Given the description of an element on the screen output the (x, y) to click on. 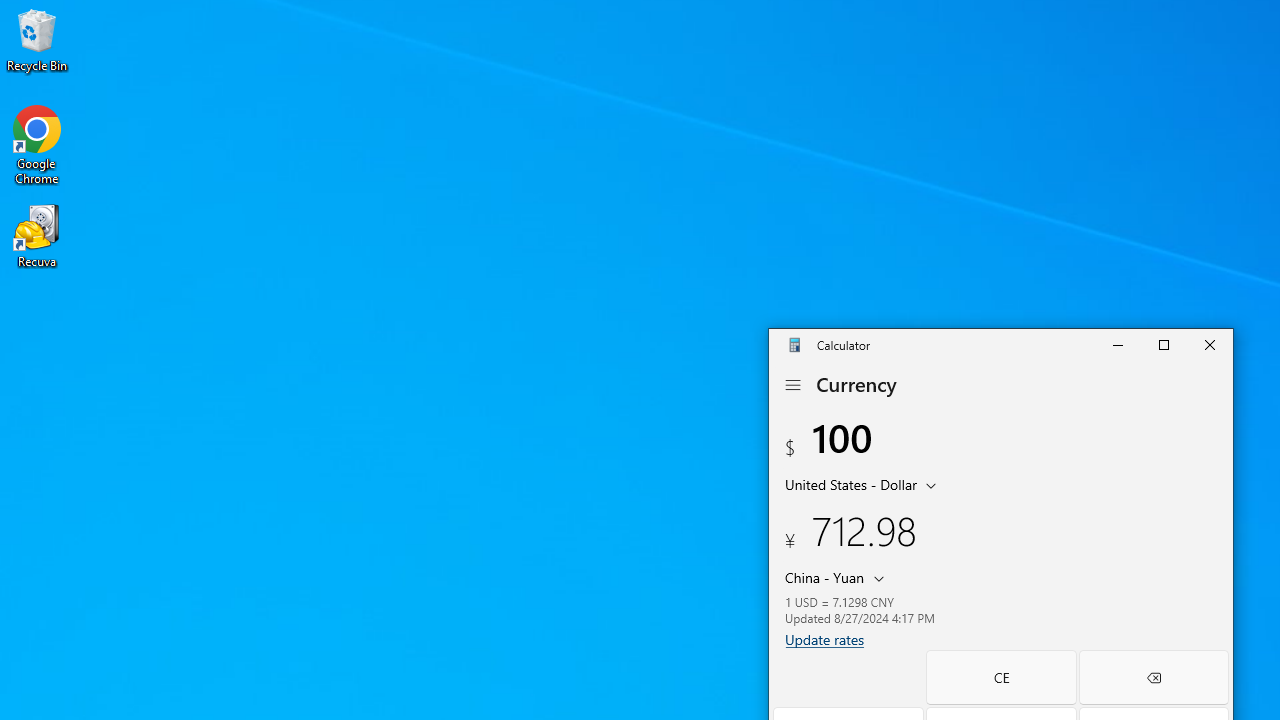
Output unit (838, 576)
Close Calculator (1209, 344)
China Yuan (822, 576)
Input unit (864, 483)
Maximize Calculator (1163, 344)
Minimize Calculator (1117, 344)
Clear entry (1000, 677)
Update rates (824, 639)
Open Navigation (792, 385)
Backspace (1153, 677)
United States Dollar (848, 483)
